Given the description of an element on the screen output the (x, y) to click on. 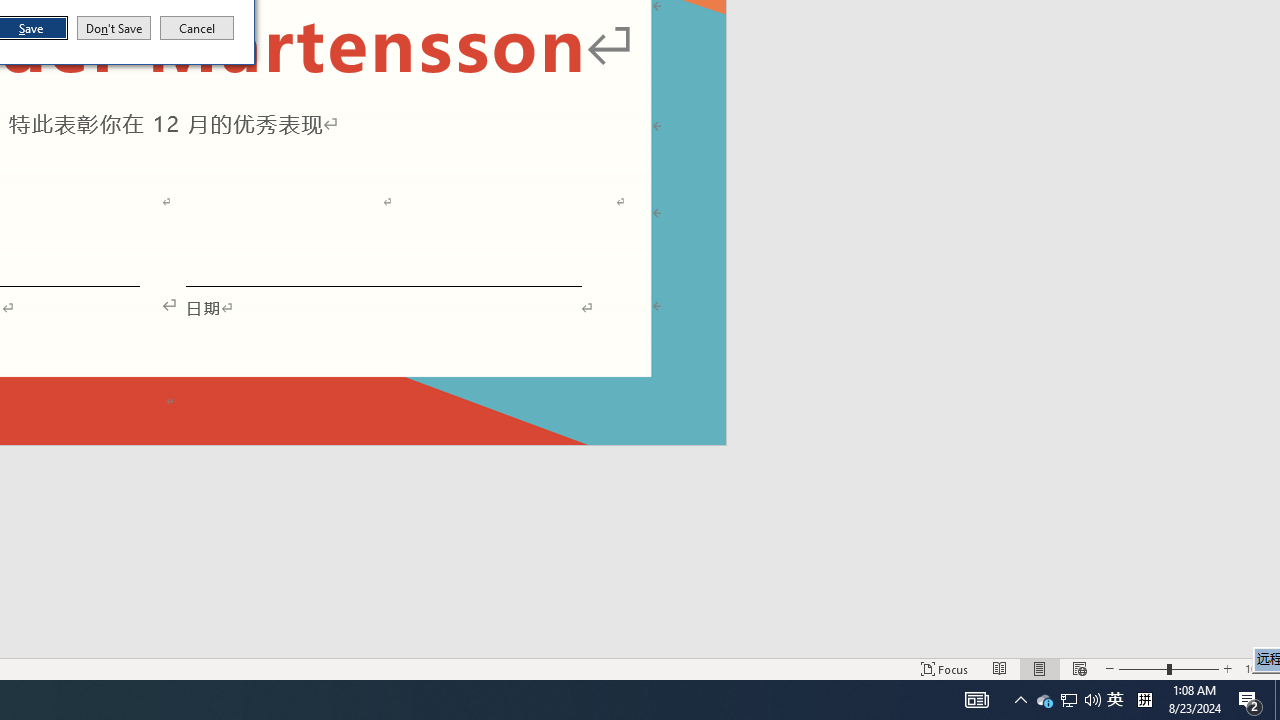
Cancel (197, 27)
Action Center, 2 new notifications (1115, 699)
User Promoted Notification Area (1044, 699)
Q2790: 100% (1250, 699)
Don't Save (1069, 699)
AutomationID: 4105 (1068, 699)
Notification Chevron (1092, 699)
